Given the description of an element on the screen output the (x, y) to click on. 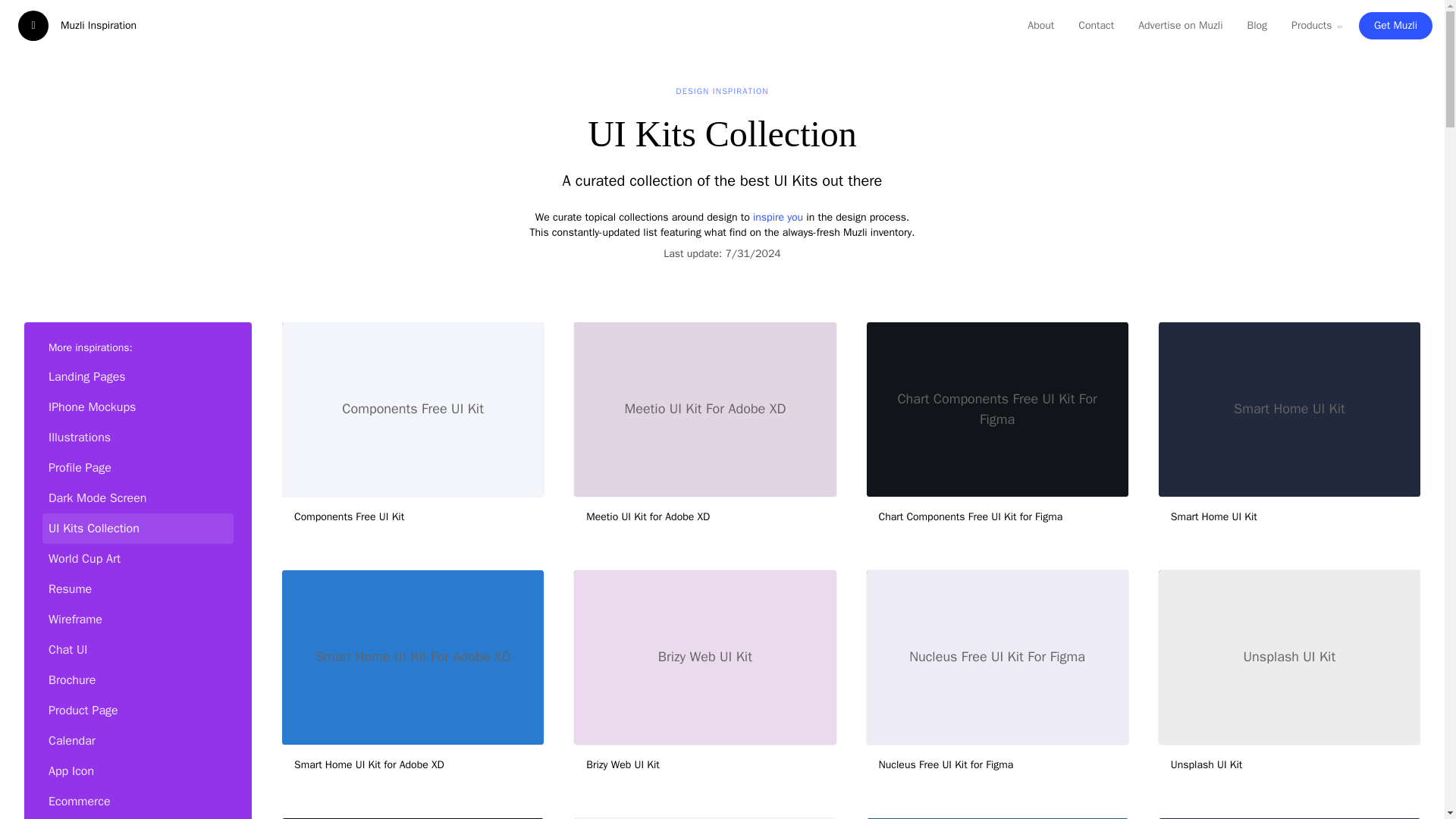
Blog (1257, 25)
Ecommerce (137, 800)
App Icon (137, 770)
World Cup Art (137, 557)
DESIGN INSPIRATION (721, 91)
Contact (1095, 25)
Resume (137, 588)
inspire you (777, 216)
UI Kits Collection (137, 527)
Illustrations (137, 436)
Wireframe (137, 618)
Homepage (137, 817)
About (1040, 25)
Profile Page (137, 467)
Get Muzli (1395, 25)
